Given the description of an element on the screen output the (x, y) to click on. 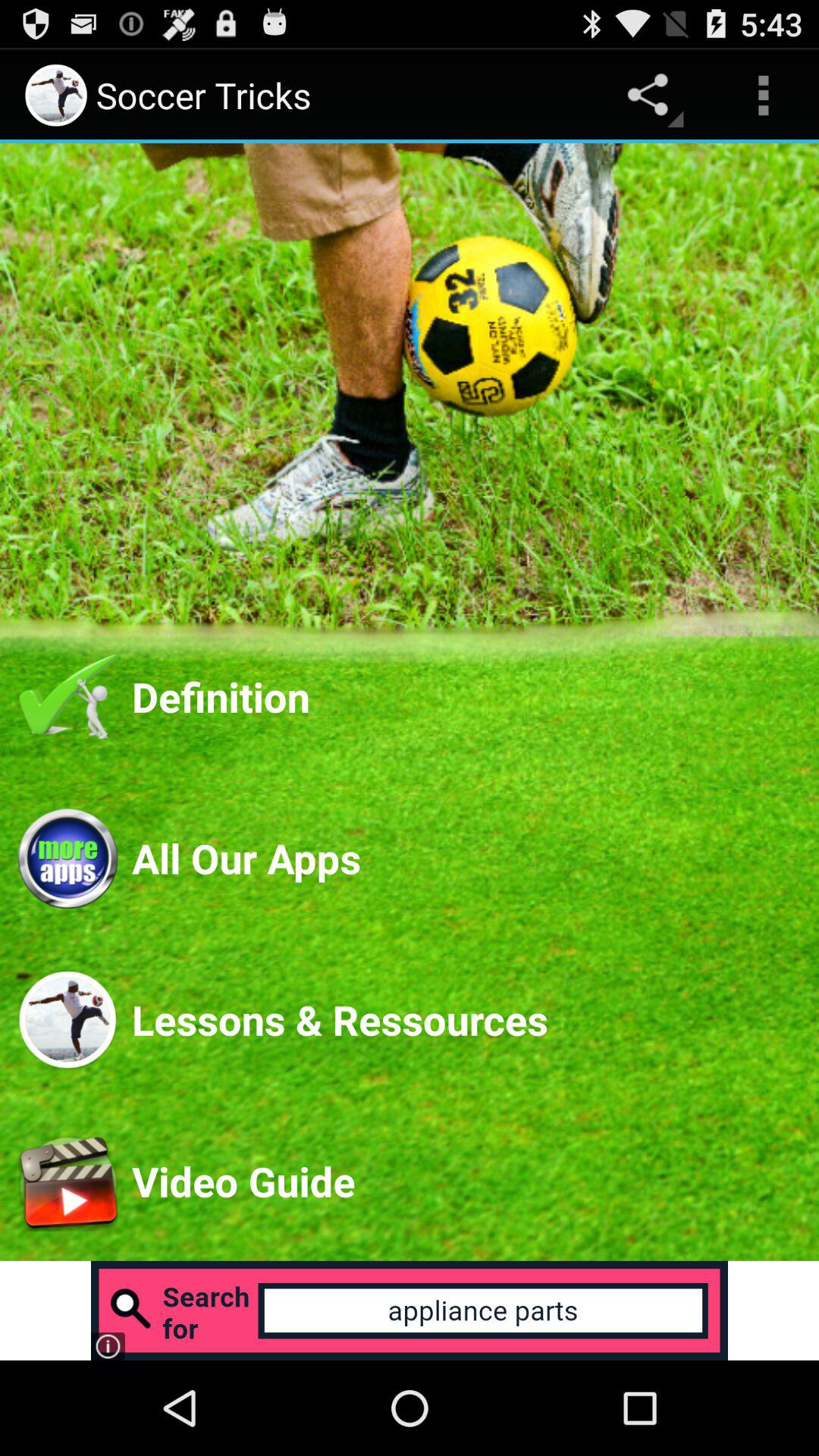
choose icon above lessons & ressources icon (465, 857)
